Given the description of an element on the screen output the (x, y) to click on. 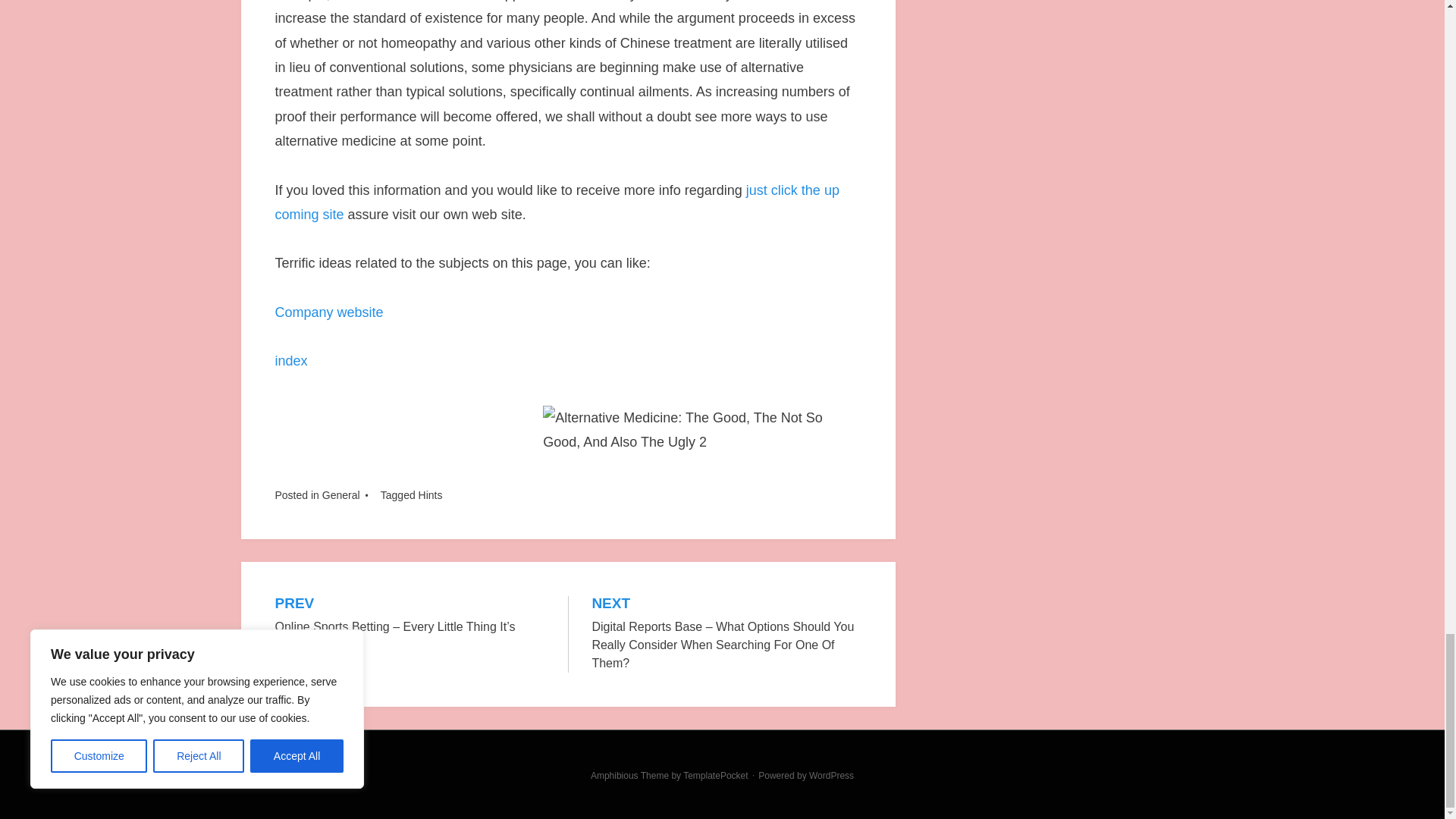
WordPress (831, 775)
Company website (328, 312)
just click the up coming site (556, 201)
TemplatePocket (715, 775)
index (291, 360)
General (340, 494)
Hints (430, 494)
